Given the description of an element on the screen output the (x, y) to click on. 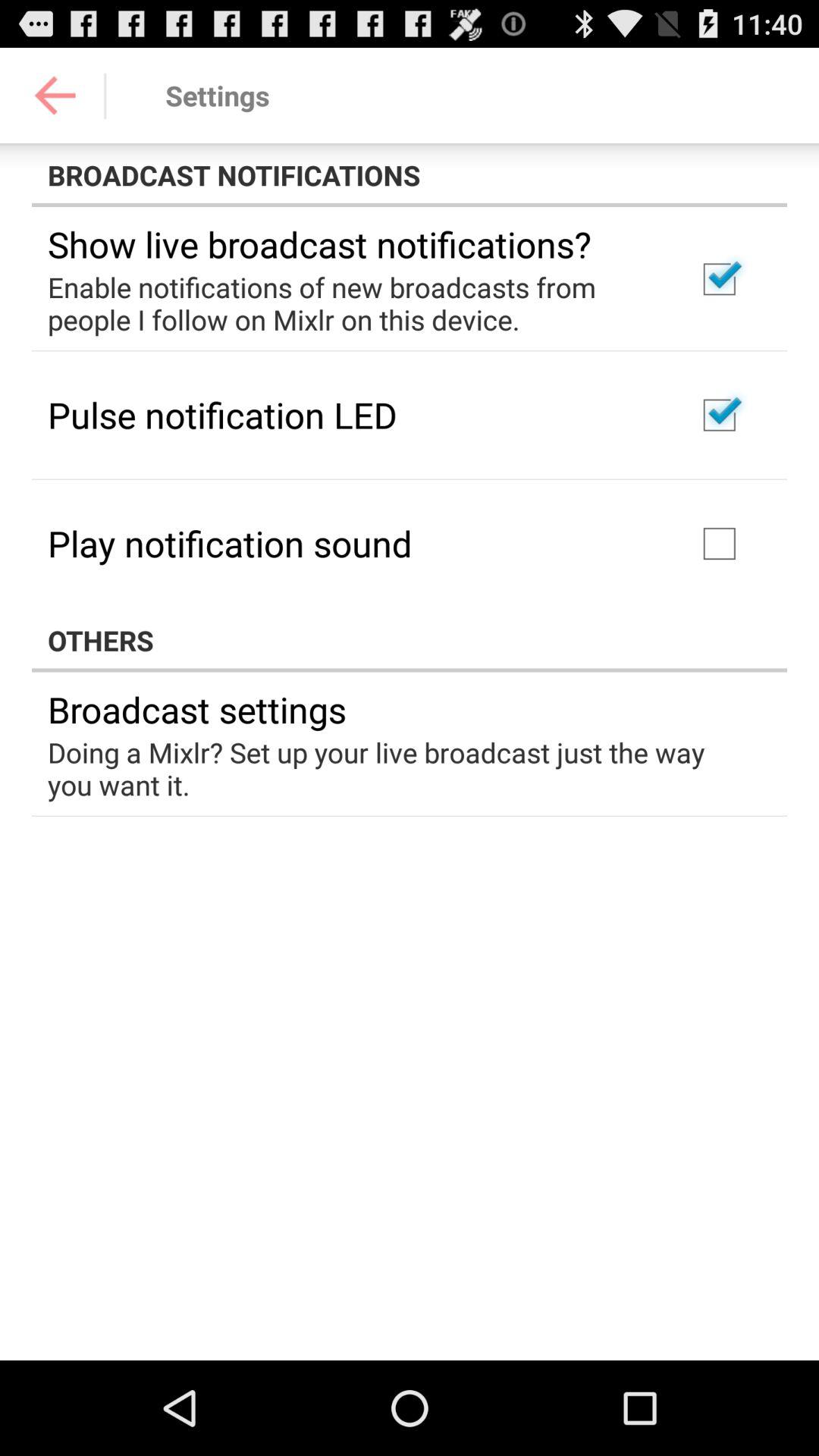
choose the icon above the doing a mixlr (196, 709)
